Given the description of an element on the screen output the (x, y) to click on. 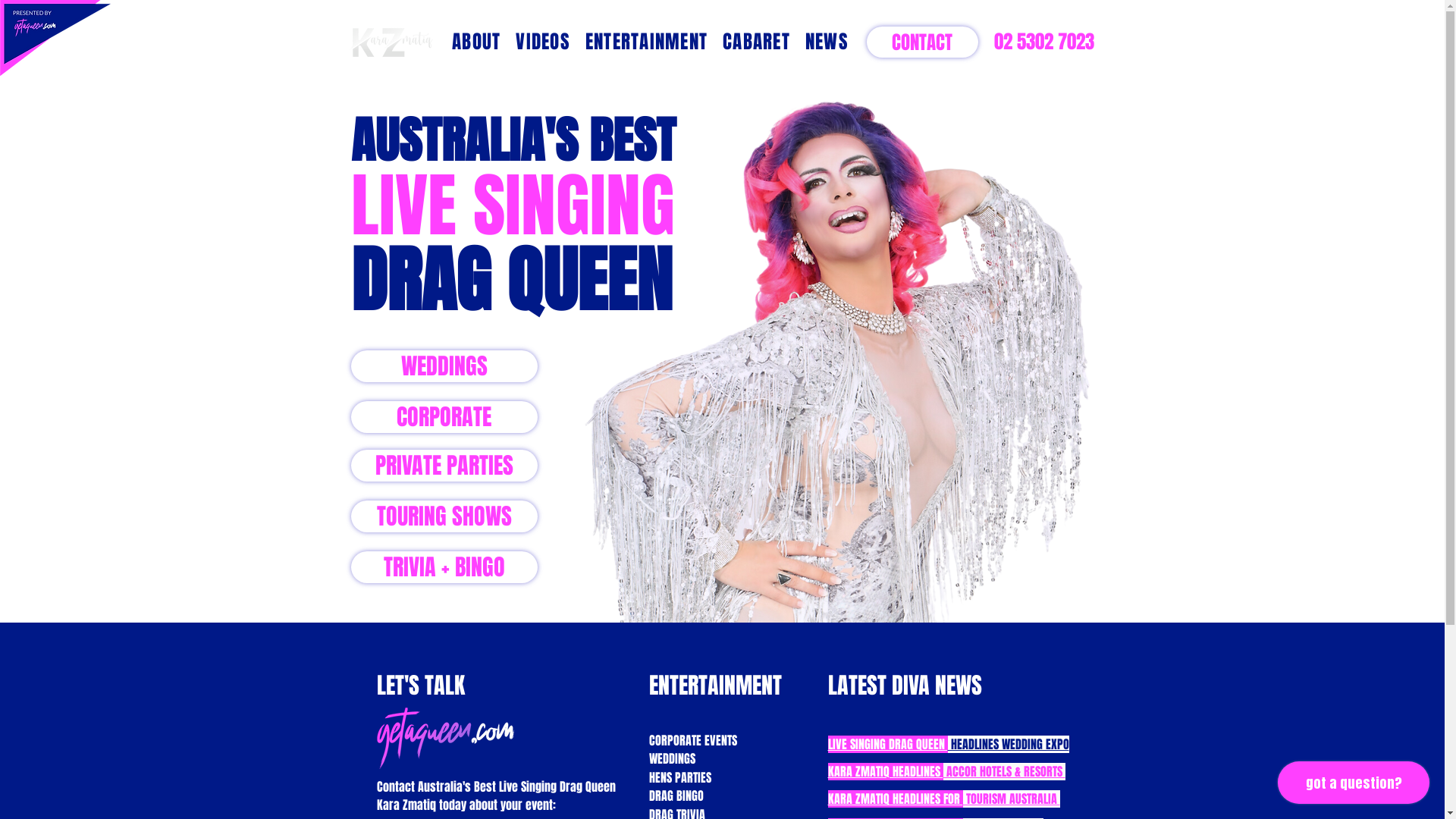
KARA ZMATIQ HEADLINES FOR  Element type: text (895, 798)
CORPORATE EVENTS Element type: text (693, 741)
CONTACT Element type: text (921, 41)
DRAG BINGO Element type: text (676, 797)
KARA ZMATIQ HEADLINES  ACCOR HOTELS & RESORTS  Element type: text (946, 773)
 TOURISM AUSTRALIA  Element type: text (1011, 798)
CORPORATE Element type: text (443, 417)
LIVE SINGING DRAG QUEEN  HEADLINES WEDDING EXPO Element type: text (948, 746)
ABOUT Element type: text (476, 41)
WEDDINGS Element type: text (672, 760)
PRIVATE PARTIES Element type: text (443, 465)
WEDDINGS Element type: text (443, 366)
HENS PARTIES Element type: text (680, 779)
CABARET Element type: text (756, 41)
VIDEOS Element type: text (542, 41)
TRIVIA + BINGO Element type: text (443, 567)
TOURING SHOWS Element type: text (443, 516)
NEWS Element type: text (826, 41)
